Given the description of an element on the screen output the (x, y) to click on. 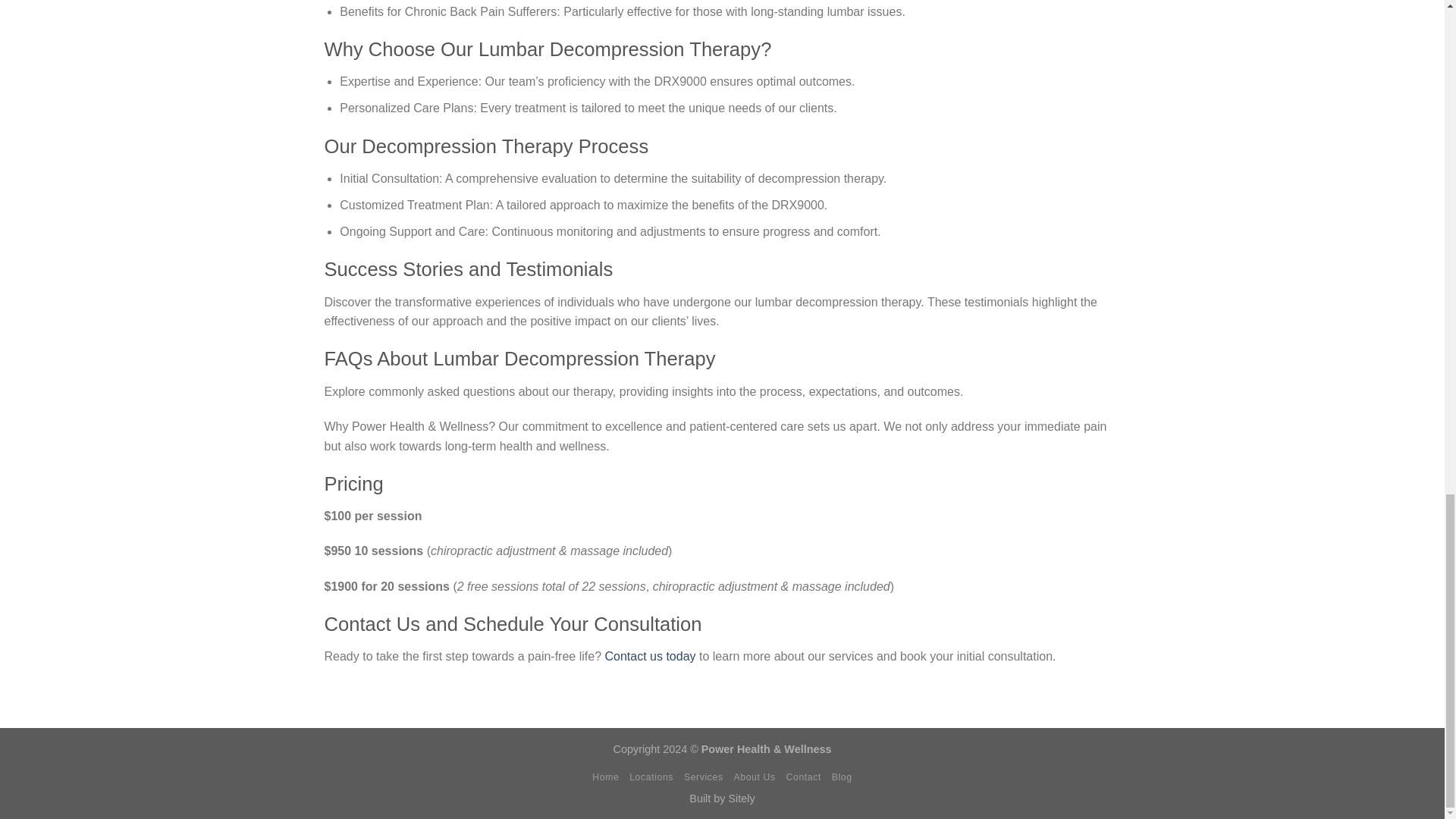
Contact us today (648, 656)
Home (605, 777)
Services (703, 777)
Contact (803, 777)
Locations (650, 777)
 Contact us today (648, 656)
About Us (753, 777)
Blog (841, 777)
Sitely (741, 798)
